Given the description of an element on the screen output the (x, y) to click on. 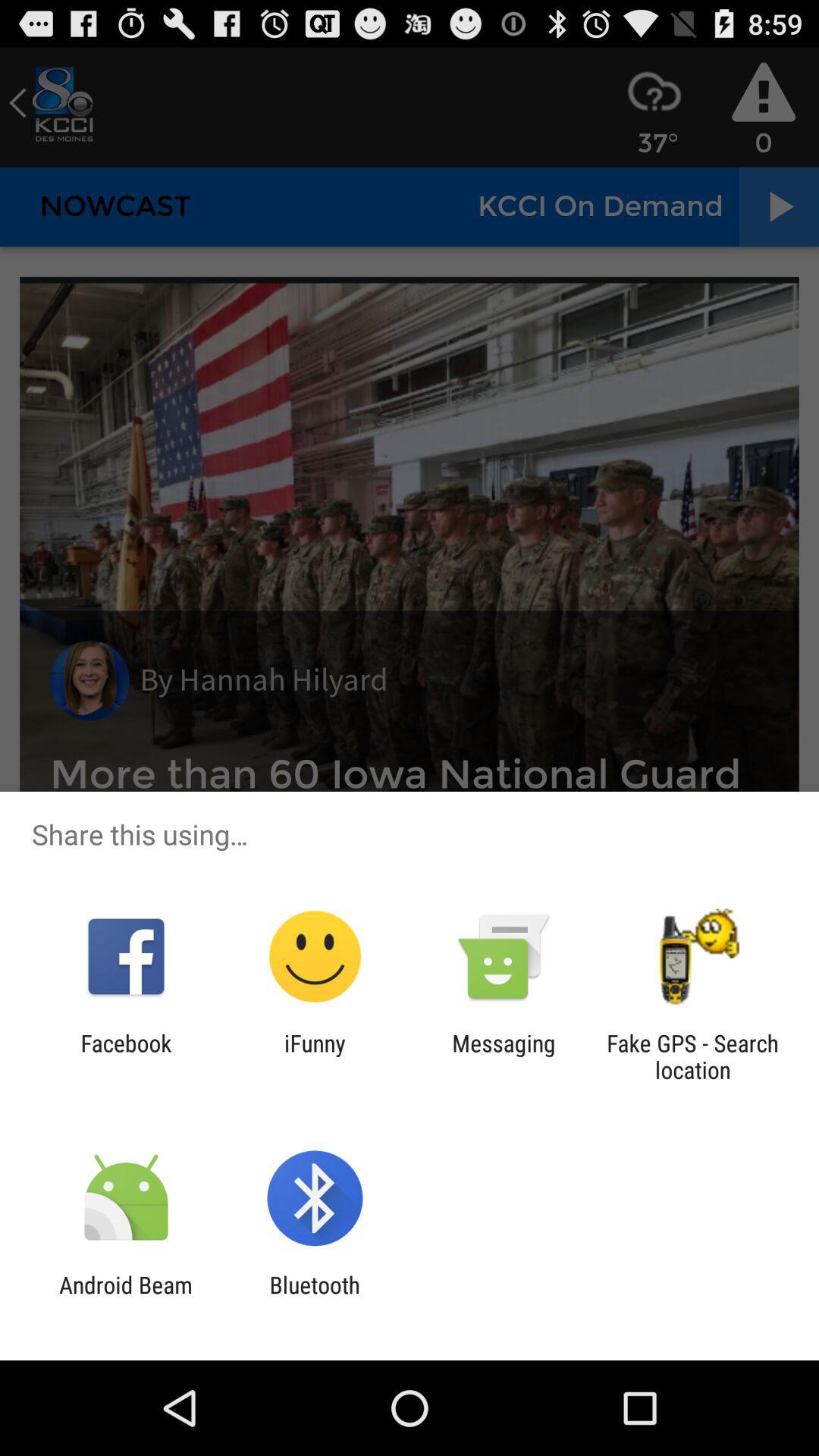
scroll to the facebook app (125, 1056)
